Given the description of an element on the screen output the (x, y) to click on. 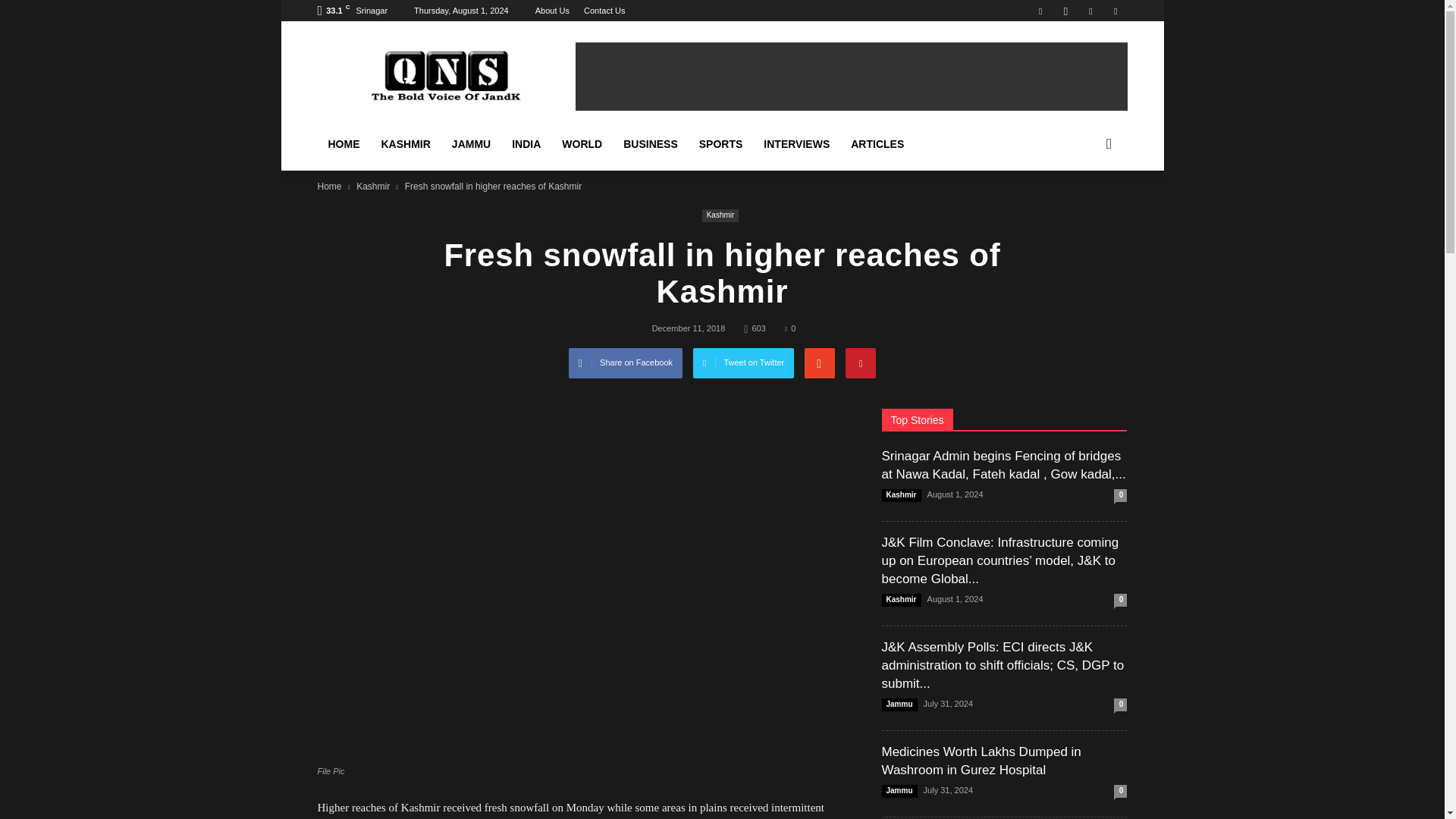
Contact Us (602, 10)
Youtube (1114, 10)
Kashmir (720, 215)
Facebook (1040, 10)
View all posts in Kashmir (373, 185)
KASHMIR (405, 143)
WORLD (581, 143)
ARTICLES (877, 143)
Home (328, 185)
Search (1083, 213)
HOME (343, 143)
INDIA (525, 143)
Kashmir (373, 185)
Twitter (1090, 10)
JAMMU (470, 143)
